Given the description of an element on the screen output the (x, y) to click on. 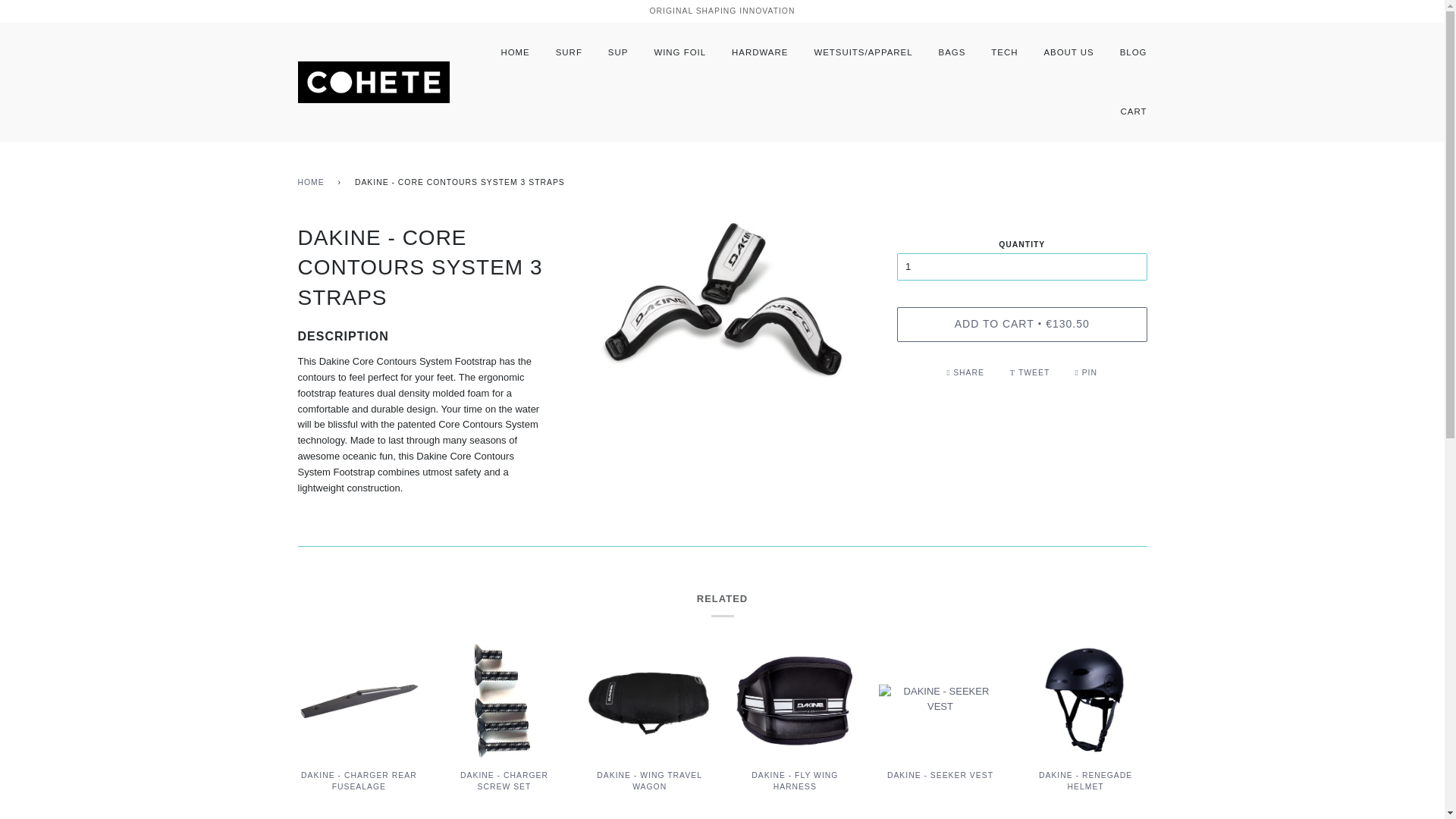
Back to the frontpage (313, 182)
HARDWARE (759, 51)
1 (1021, 266)
